Given the description of an element on the screen output the (x, y) to click on. 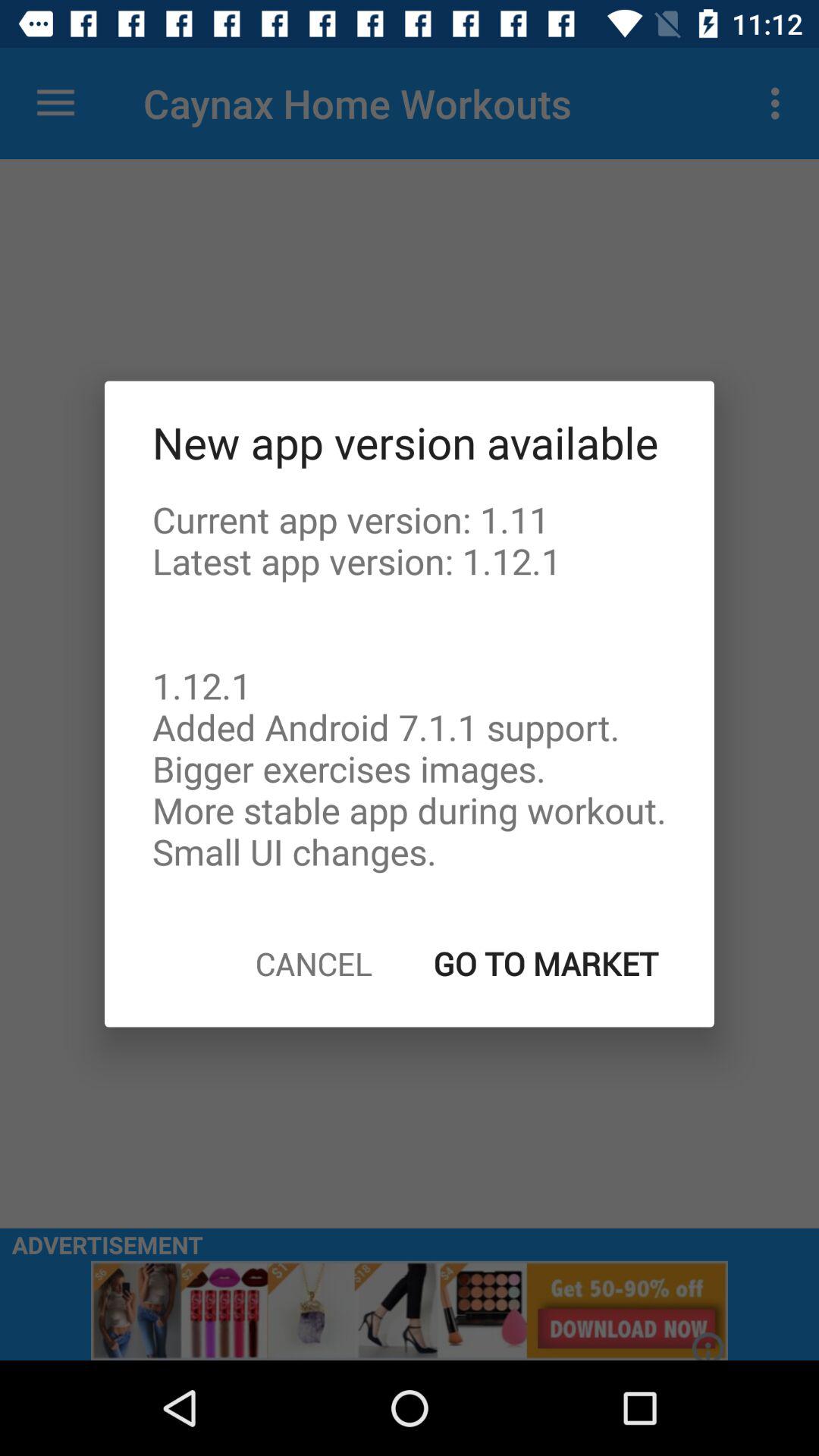
select icon to the right of cancel item (545, 963)
